Given the description of an element on the screen output the (x, y) to click on. 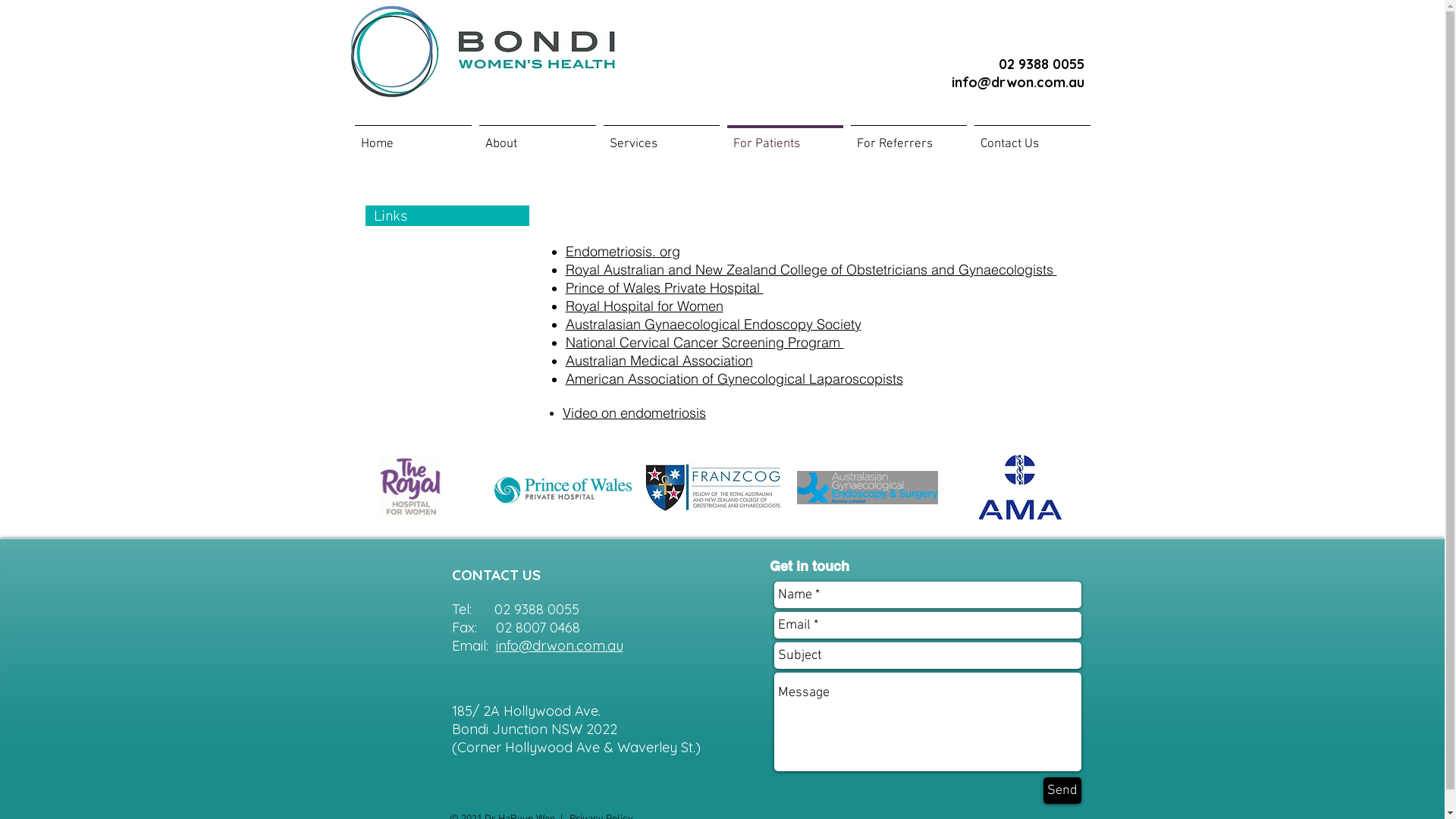
Endometriosis. org Element type: text (622, 251)
Video on endometriosis Element type: text (634, 412)
Australasian Gynaecological Endoscopy Society Element type: text (713, 323)
Australian Medical Association Element type: text (659, 360)
For Referrers Element type: text (907, 137)
info@drwon.com.au Element type: text (1016, 82)
Contact Us Element type: text (1032, 137)
National Cervical Cancer Screening Program  Element type: text (704, 342)
About Element type: text (536, 137)
Send Element type: text (1062, 790)
Royal Hospital for Women Element type: text (644, 305)
For Patients Element type: text (785, 137)
Services Element type: text (660, 137)
Prince of Wales Private Hospital  Element type: text (664, 287)
info@drwon.com.au Element type: text (559, 645)
LOGO for white bg jpg.jpg Element type: hover (482, 51)
American Association of Gynecological Laparoscopists Element type: text (734, 378)
Home Element type: text (412, 137)
